Given the description of an element on the screen output the (x, y) to click on. 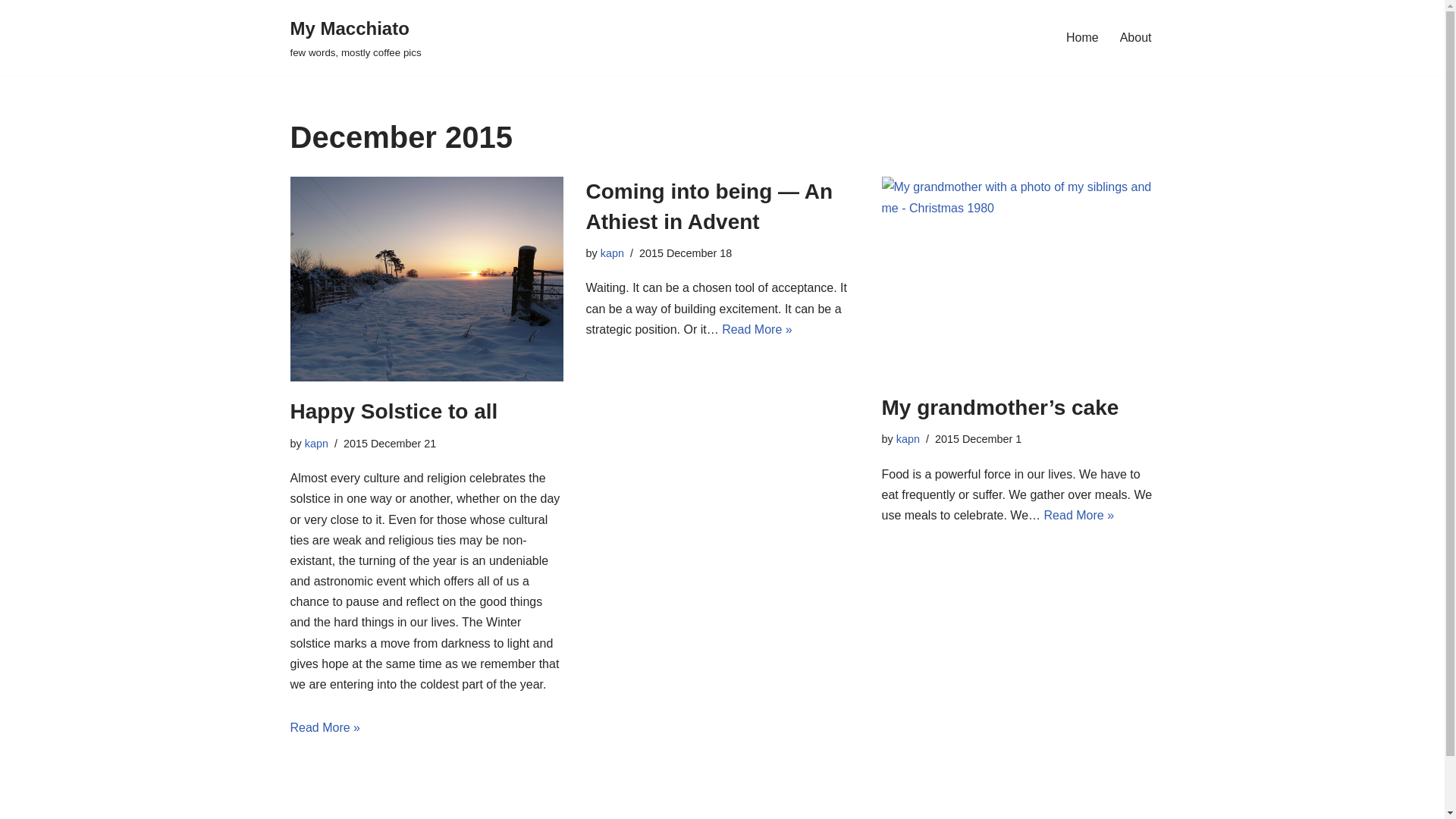
Happy Solstice to all (393, 411)
Skip to content (11, 31)
kapn (908, 439)
Happy Solstice to all (425, 278)
Posts by kapn (908, 439)
About (1135, 37)
Posts by kapn (611, 253)
kapn (316, 443)
Posts by kapn (316, 443)
